Given the description of an element on the screen output the (x, y) to click on. 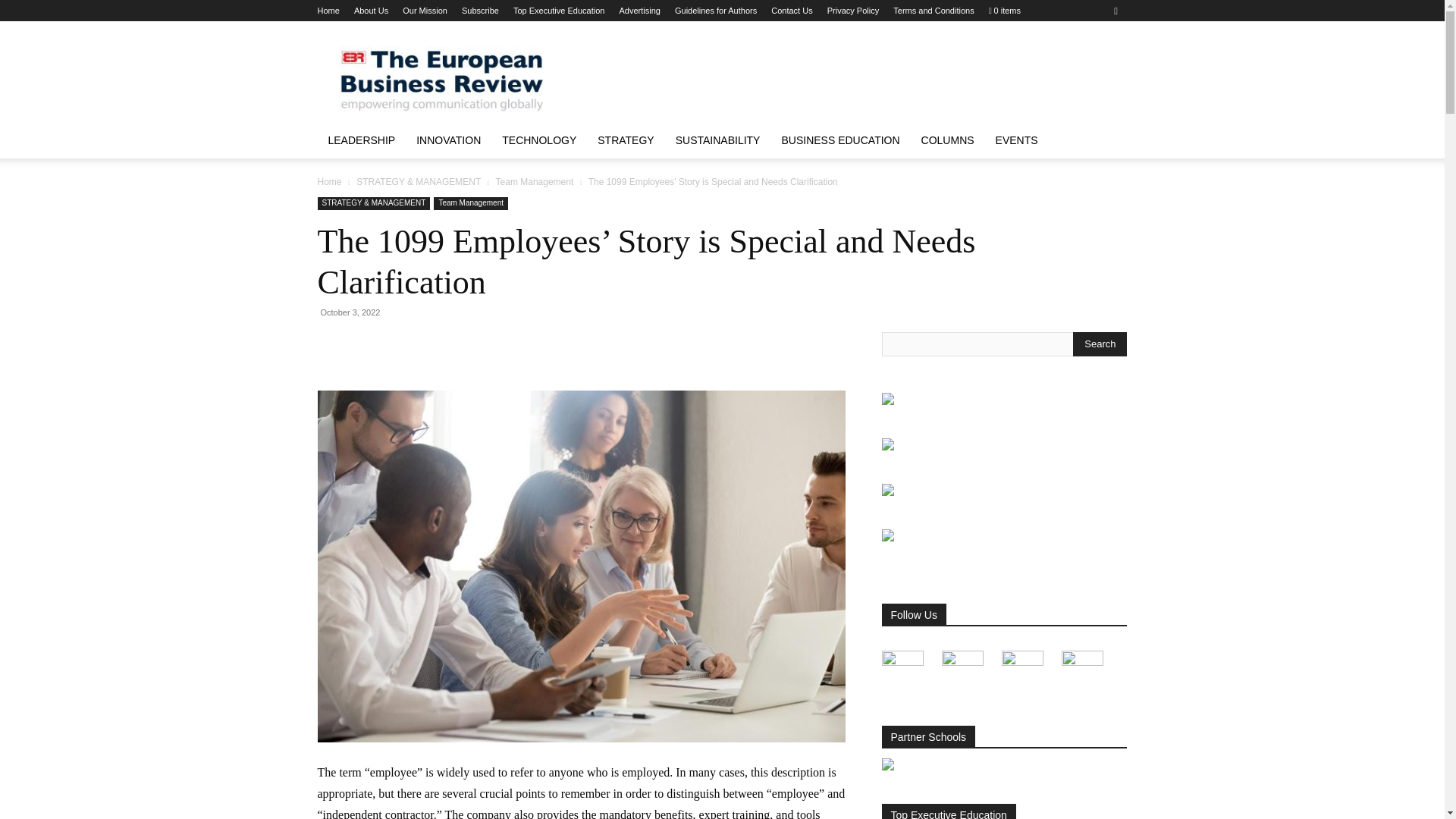
View all posts in Team Management (534, 181)
Innovation (449, 140)
Search (1099, 344)
advertisement (850, 76)
Start shopping (1004, 10)
